Given the description of an element on the screen output the (x, y) to click on. 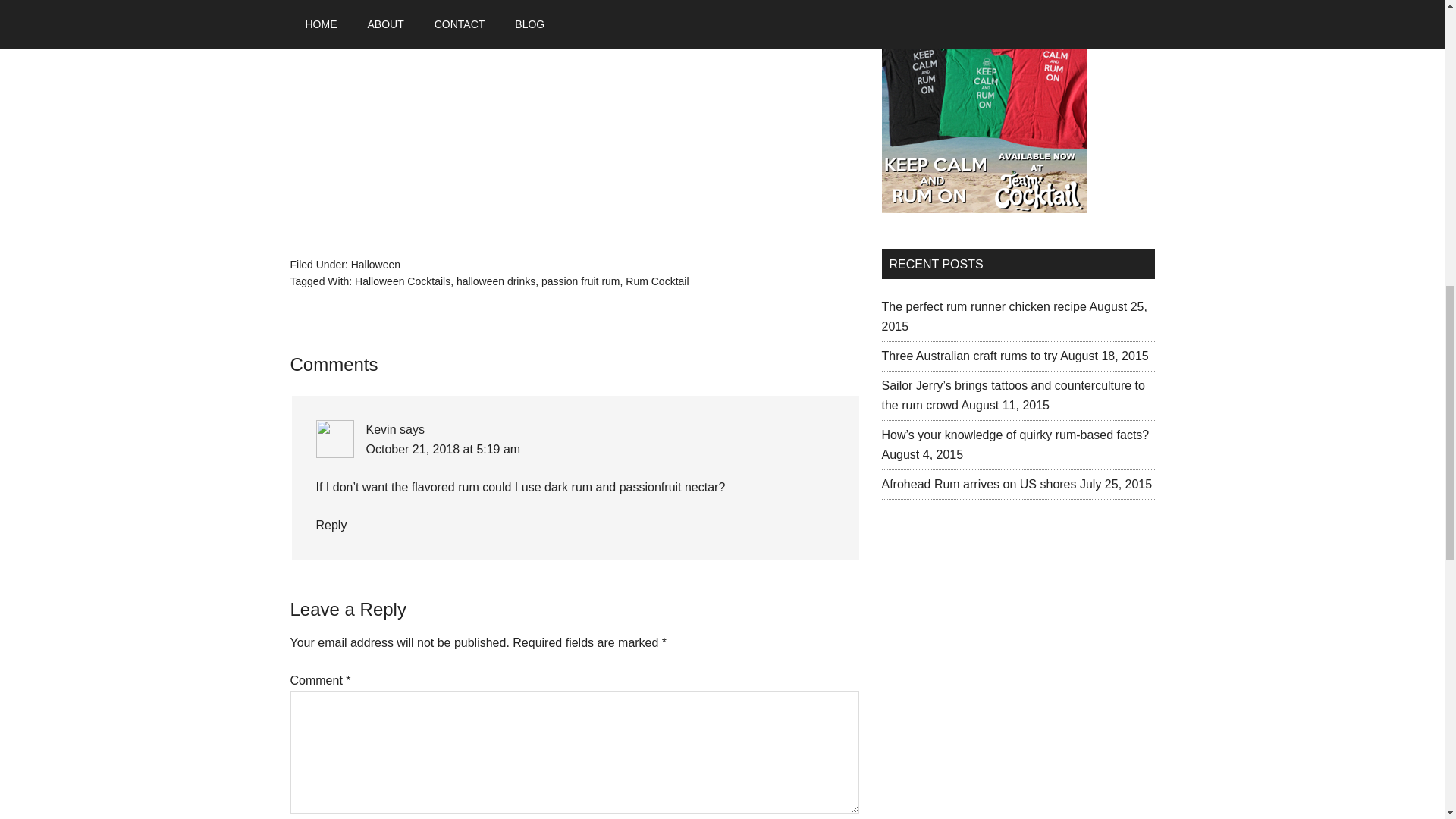
The perfect rum runner chicken recipe (983, 306)
Afrohead Rum arrives on US shores (977, 483)
Kevin (380, 429)
Rum Cocktail (657, 281)
halloween drinks (496, 281)
Advertisement (415, 123)
Halloween (375, 263)
Advertisement (994, 643)
Reply (330, 524)
Halloween Cocktails (402, 281)
passion fruit rum (580, 281)
October 21, 2018 at 5:19 am (442, 449)
Three Australian craft rums to try (968, 355)
